Given the description of an element on the screen output the (x, y) to click on. 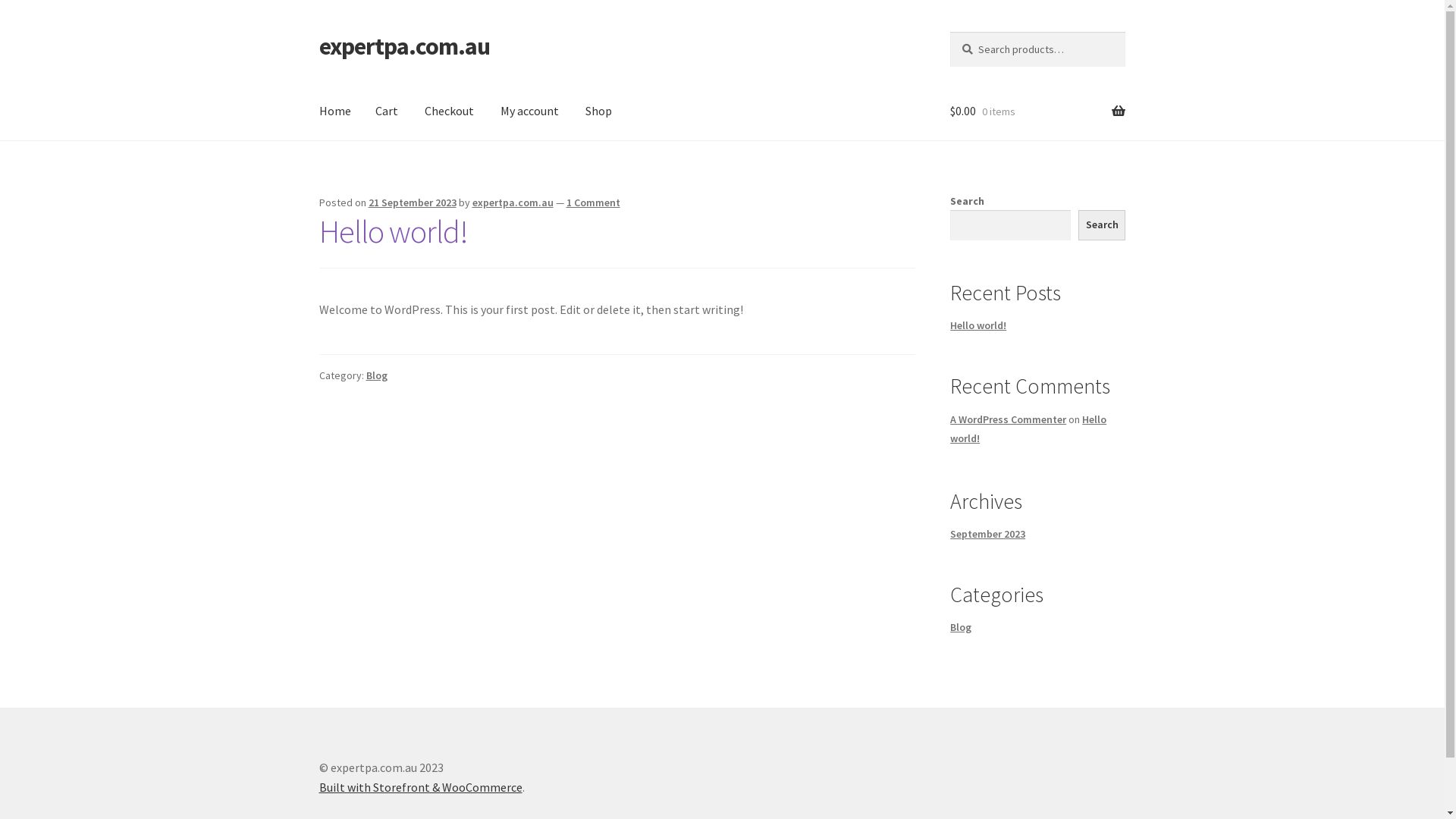
Skip to navigation Element type: text (318, 31)
My account Element type: text (529, 111)
$0.00 0 items Element type: text (1037, 111)
expertpa.com.au Element type: text (404, 46)
Blog Element type: text (960, 626)
Search Element type: text (1102, 225)
Hello world! Element type: text (1028, 428)
Cart Element type: text (386, 111)
Blog Element type: text (376, 375)
Hello world! Element type: text (978, 325)
Hello world! Element type: text (393, 231)
A WordPress Commenter Element type: text (1008, 419)
Built with Storefront & WooCommerce Element type: text (420, 786)
Home Element type: text (335, 111)
1 Comment Element type: text (593, 202)
Shop Element type: text (598, 111)
Checkout Element type: text (449, 111)
Search Element type: text (949, 31)
September 2023 Element type: text (987, 533)
expertpa.com.au Element type: text (512, 202)
21 September 2023 Element type: text (412, 202)
